Given the description of an element on the screen output the (x, y) to click on. 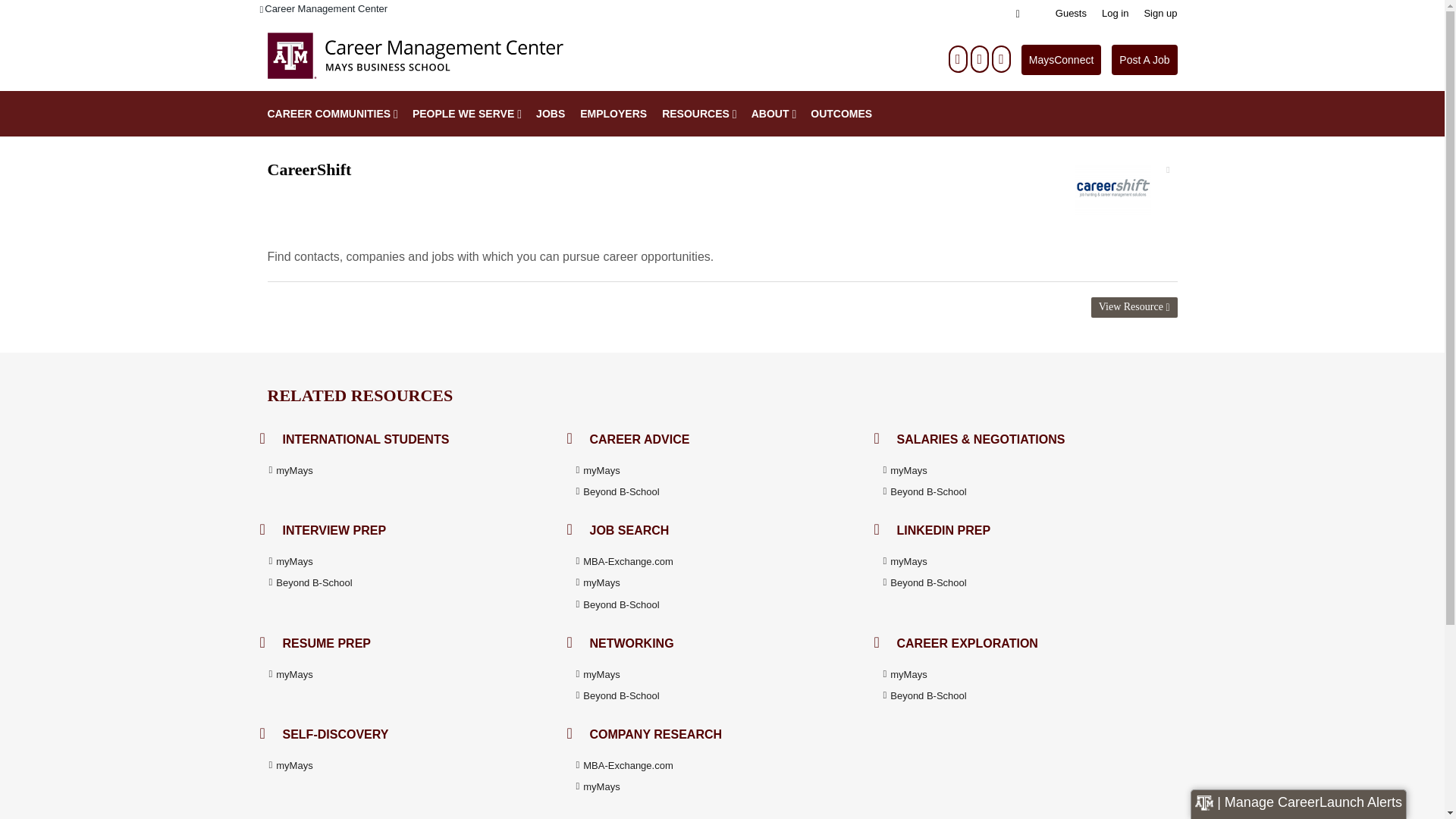
Submit Search (38, 9)
Post A Job (1144, 60)
Career Management Center (323, 8)
Log in to the guest contributors portal (1070, 13)
Sign up for an account (1159, 13)
JOBS (550, 113)
Mays Business School (414, 58)
MaysConnect (1062, 60)
Back to Career Management Center (323, 8)
EMPLOYERS (612, 113)
PEOPLE WE SERVE (458, 113)
CAREER COMMUNITIES (324, 113)
Sign up (1159, 13)
RESOURCES (691, 113)
Log in (1115, 13)
